Given the description of an element on the screen output the (x, y) to click on. 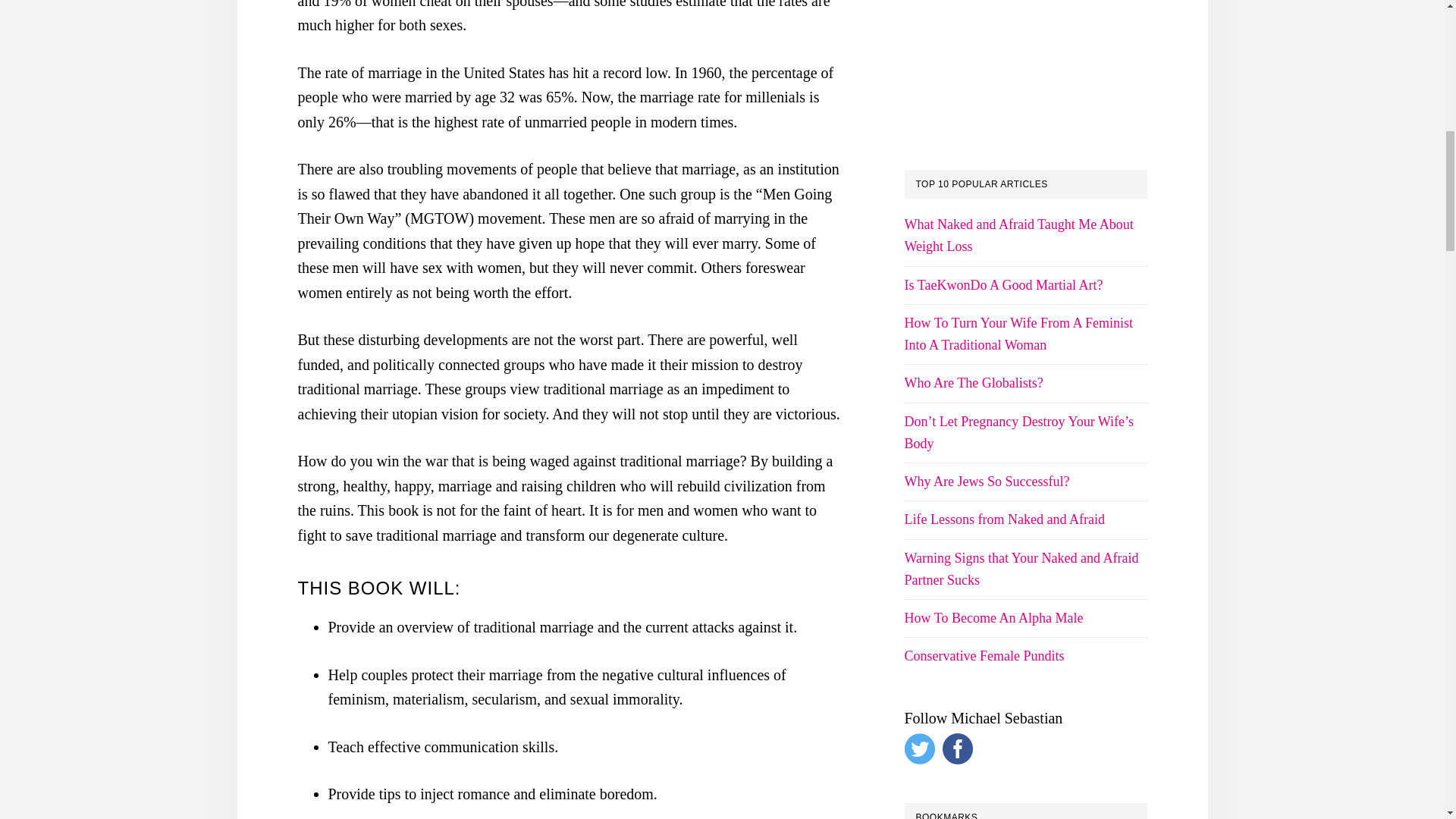
Conservative Female Pundits (984, 655)
Who Are The Globalists? (973, 382)
Is TaeKwonDo A Good Martial Art? (1003, 284)
Life Lessons from Naked and Afraid (1003, 519)
How To Become An Alpha Male (993, 617)
Warning Signs that Your Naked and Afraid Partner Sucks (1021, 569)
What Naked and Afraid Taught Me About Weight Loss (1018, 235)
Why Are Jews So Successful? (986, 481)
